Given the description of an element on the screen output the (x, y) to click on. 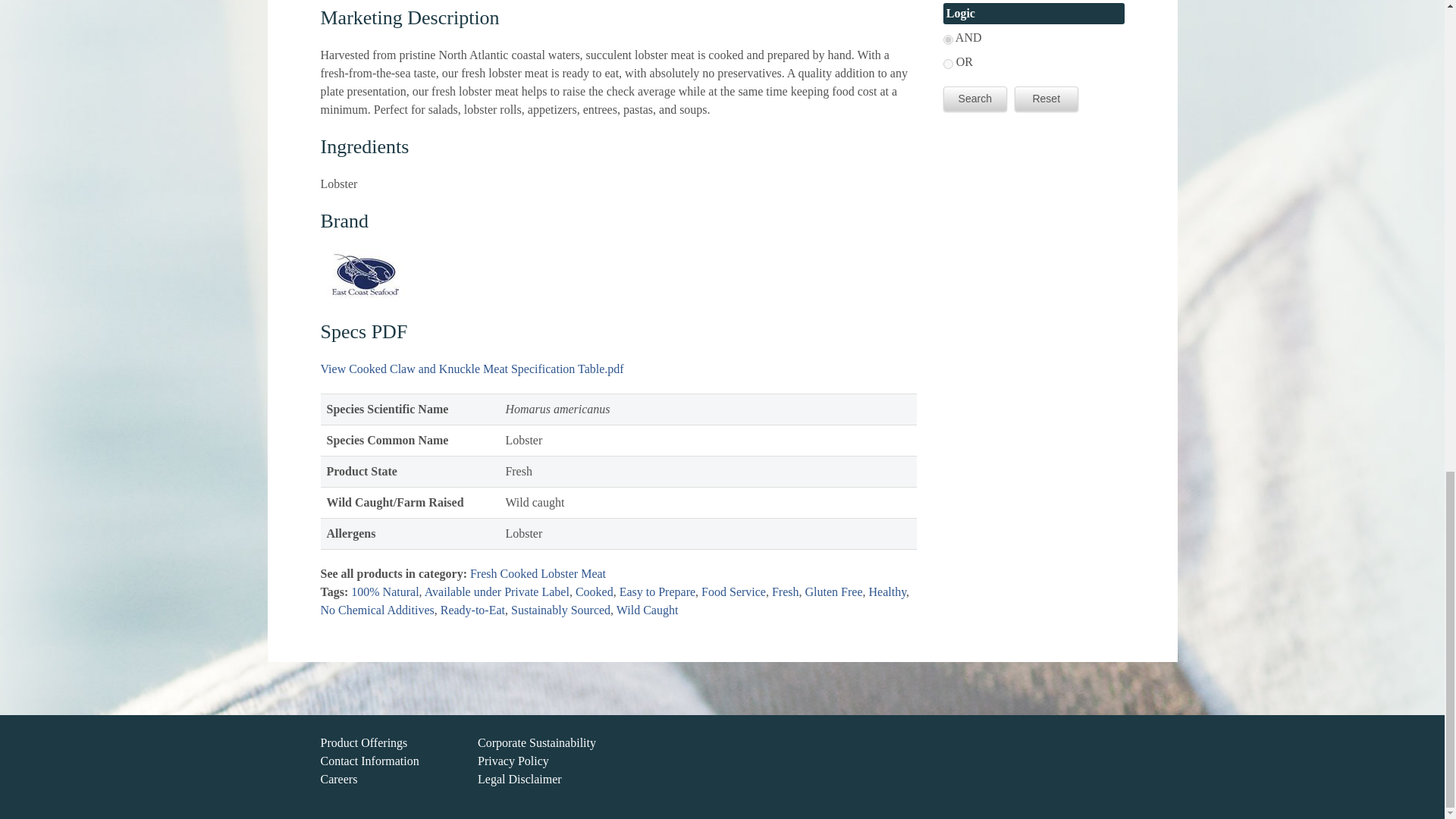
Easy to Prepare (657, 590)
Cooked (593, 590)
View Cooked Claw and Knuckle Meat Specification Table.pdf (471, 367)
Available under Private Label (497, 590)
Gluten Free (834, 590)
and (948, 40)
or (948, 63)
Fresh Cooked Lobster Meat (537, 572)
Fresh (785, 590)
Search (975, 98)
